Given the description of an element on the screen output the (x, y) to click on. 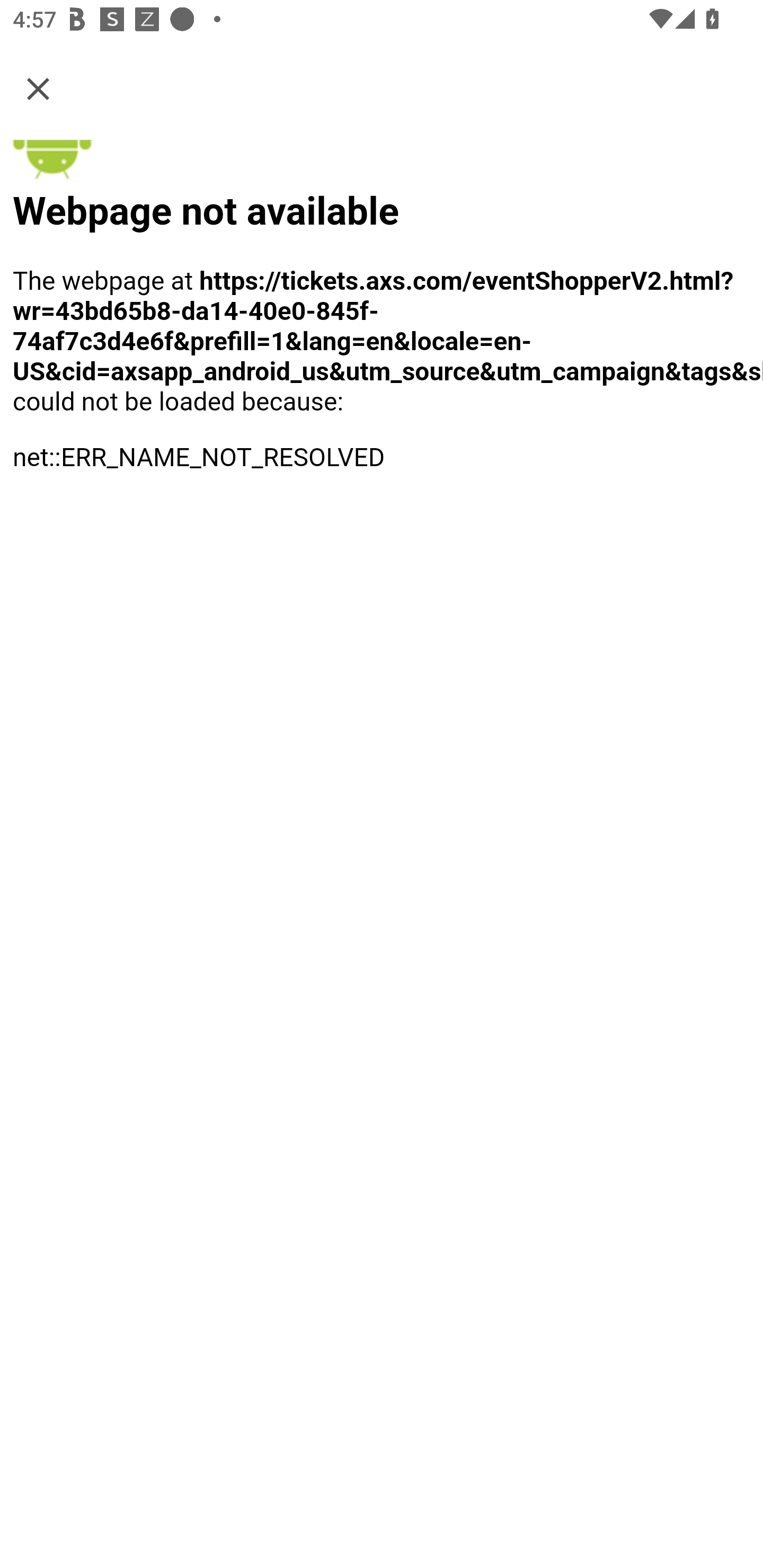
Close (38, 88)
